Given the description of an element on the screen output the (x, y) to click on. 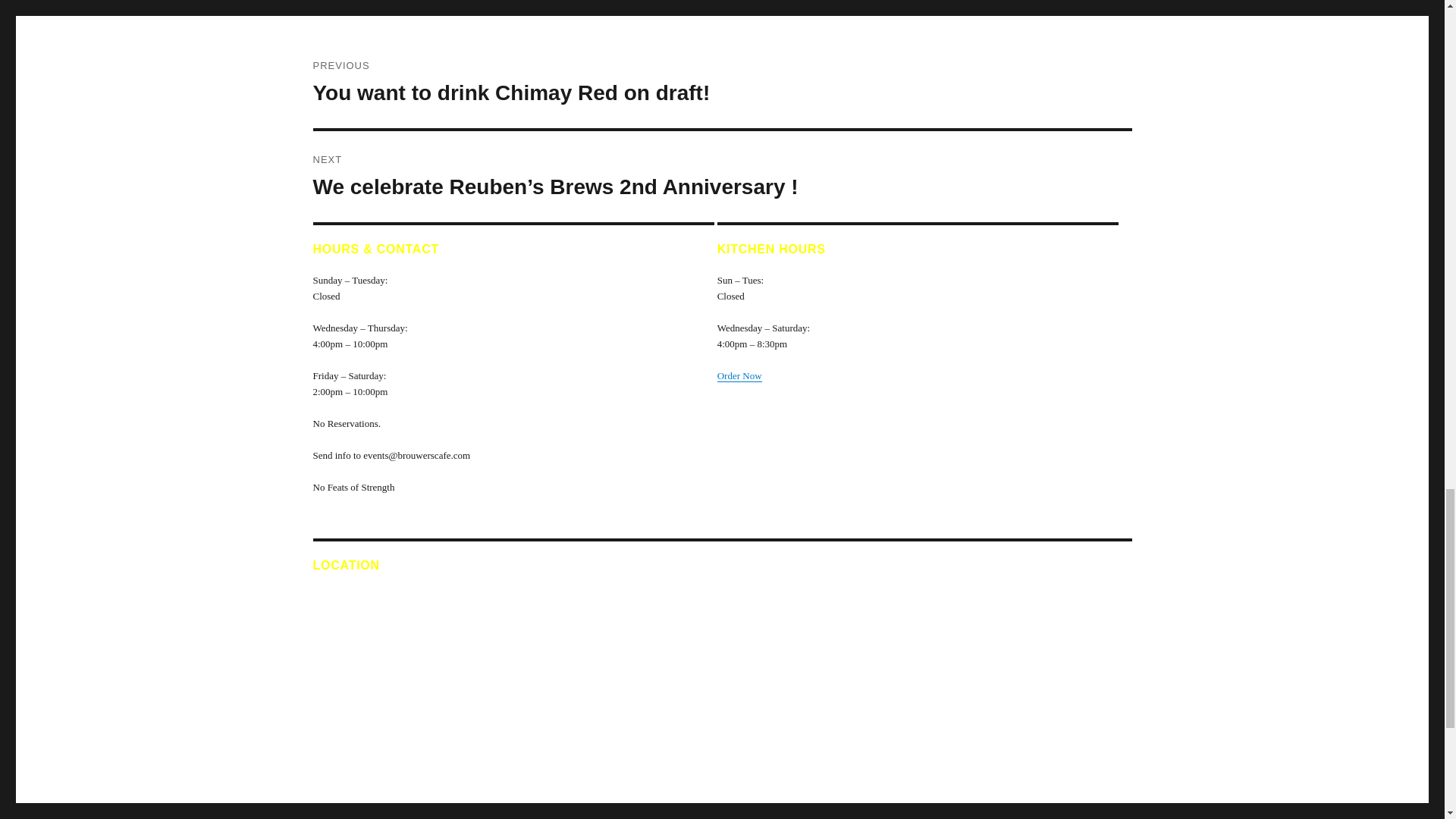
Order Now (739, 375)
